Given the description of an element on the screen output the (x, y) to click on. 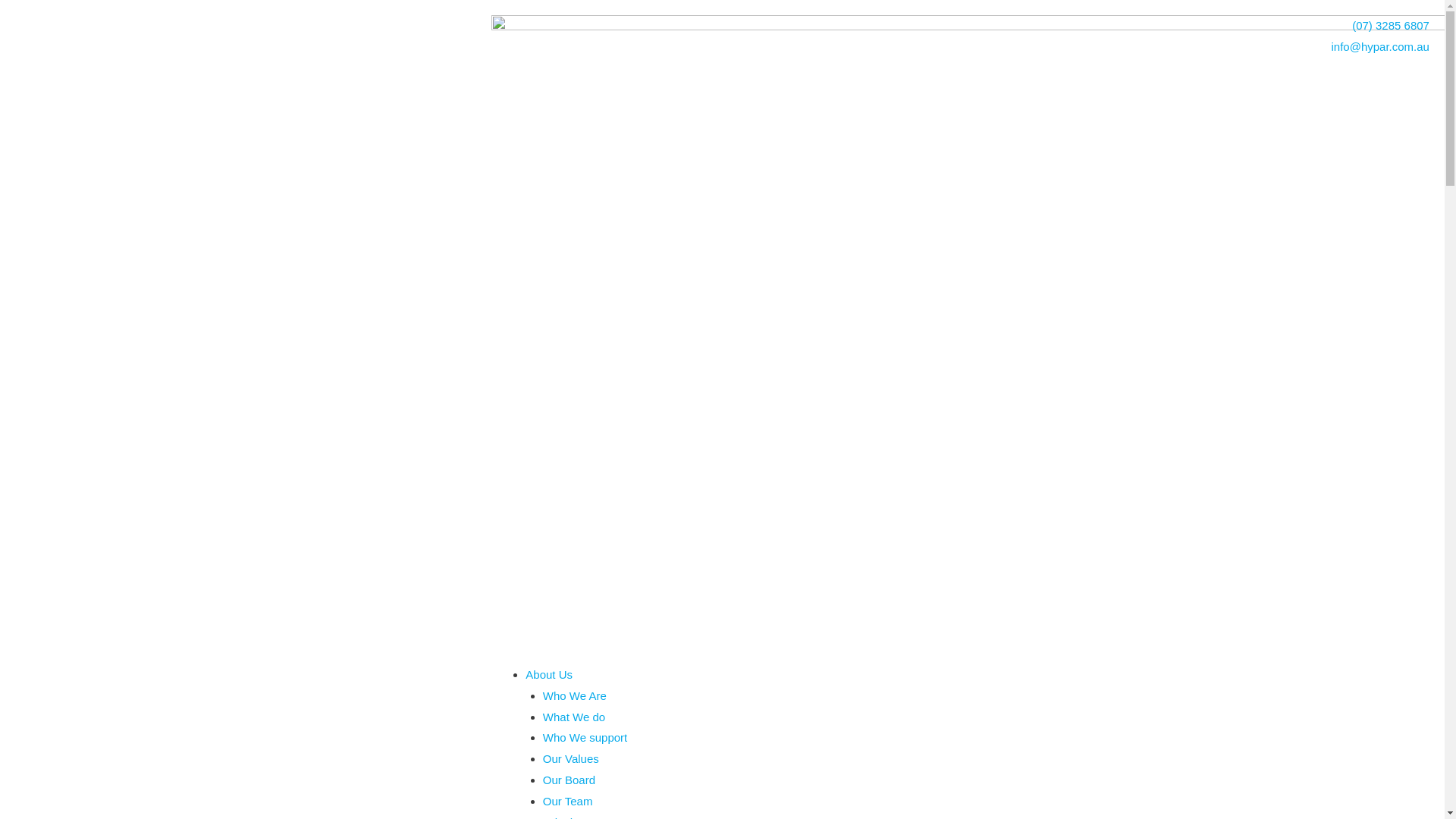
What We do Element type: text (573, 716)
(07) 3285 6807 Element type: text (1198, 25)
Our Team Element type: text (567, 800)
Our Board Element type: text (568, 779)
info@hypar.com.au Element type: text (1198, 46)
Who We Are Element type: text (574, 695)
Our Values Element type: text (570, 758)
About Us Element type: text (548, 674)
Who We support Element type: text (584, 737)
